Given the description of an element on the screen output the (x, y) to click on. 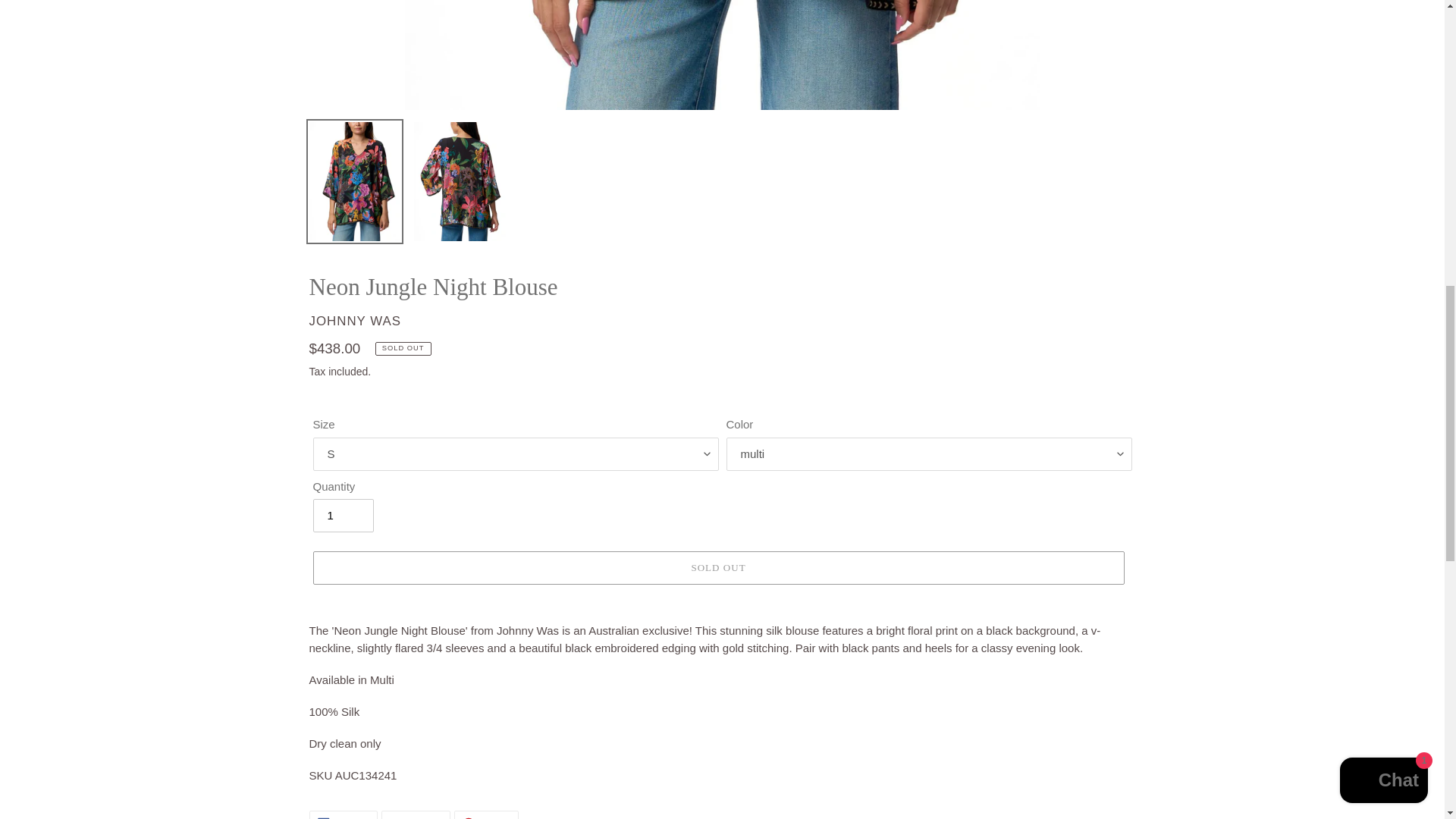
1 (342, 515)
